Given the description of an element on the screen output the (x, y) to click on. 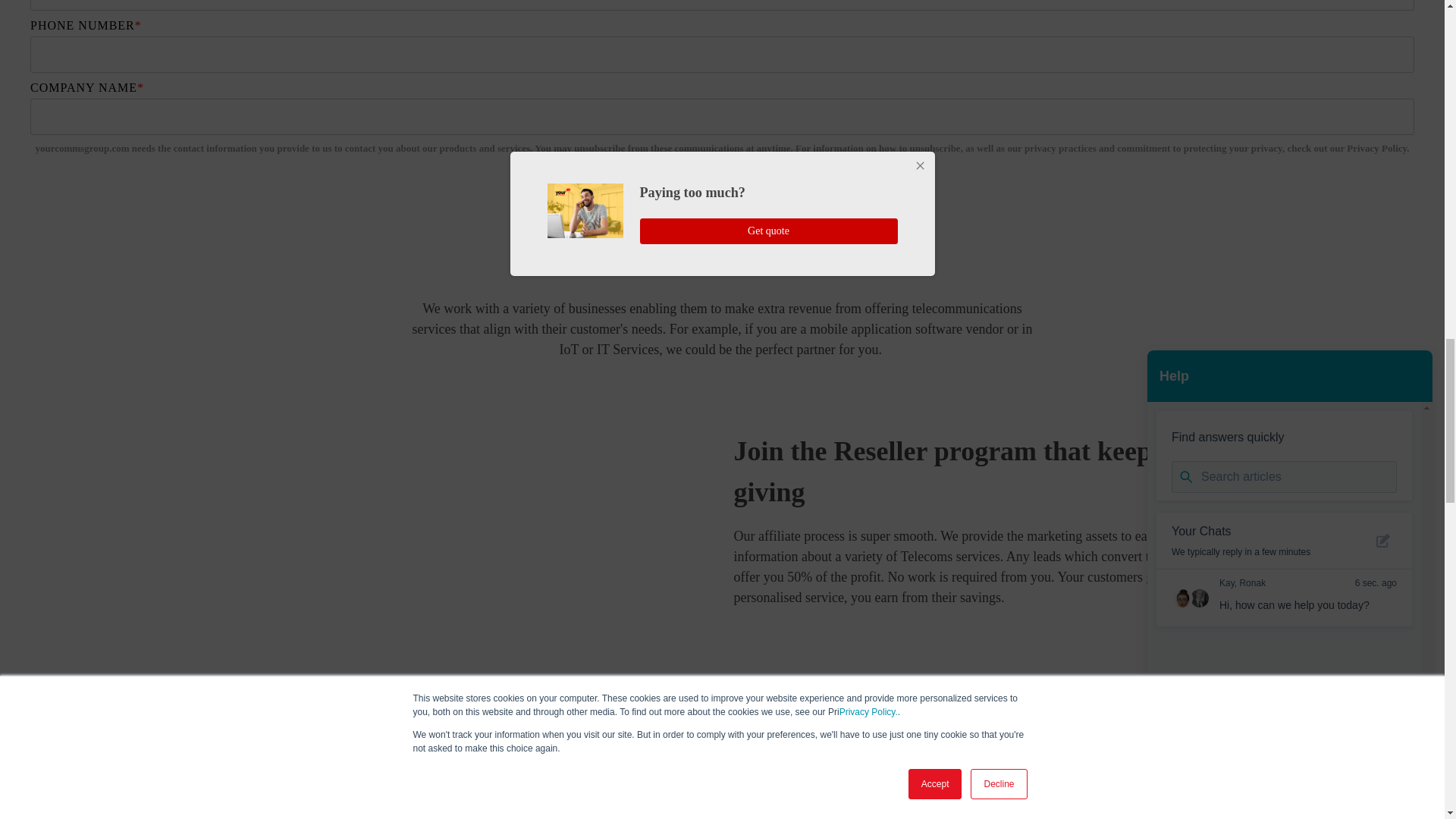
Submit (722, 187)
